Given the description of an element on the screen output the (x, y) to click on. 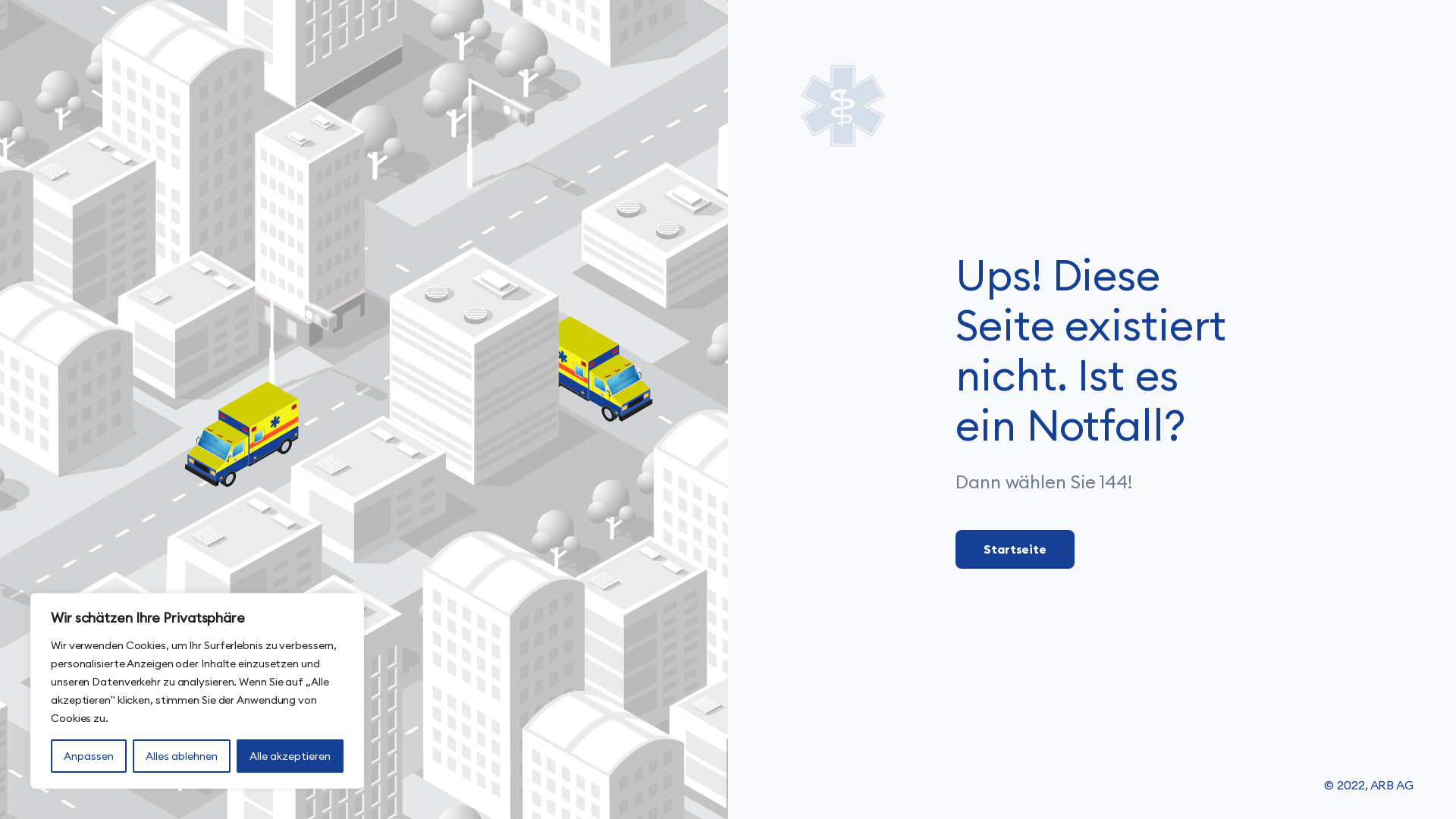
Alle akzeptieren Element type: text (289, 755)
Alles ablehnen Element type: text (181, 755)
Anpassen Element type: text (88, 755)
Startseite Element type: text (1014, 549)
